Given the description of an element on the screen output the (x, y) to click on. 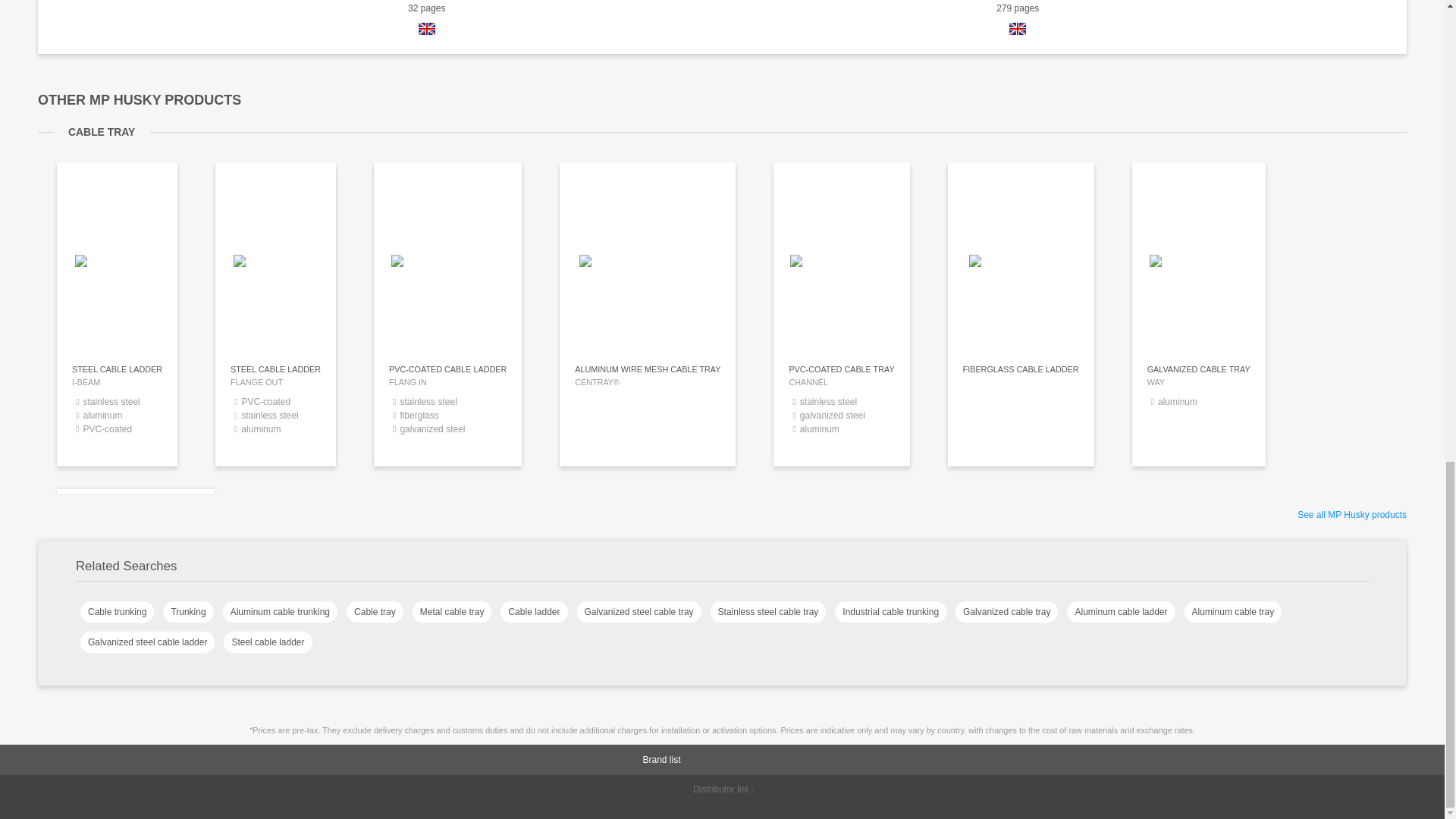
See all MP Husky products (1351, 514)
Cable tray (375, 611)
FIBERGLASS CABLE LADDER (1020, 411)
QUALIFICATIONS (1198, 411)
CABLE TRAY SYSTEMS (187, 611)
Cable trunking (279, 611)
